Given the description of an element on the screen output the (x, y) to click on. 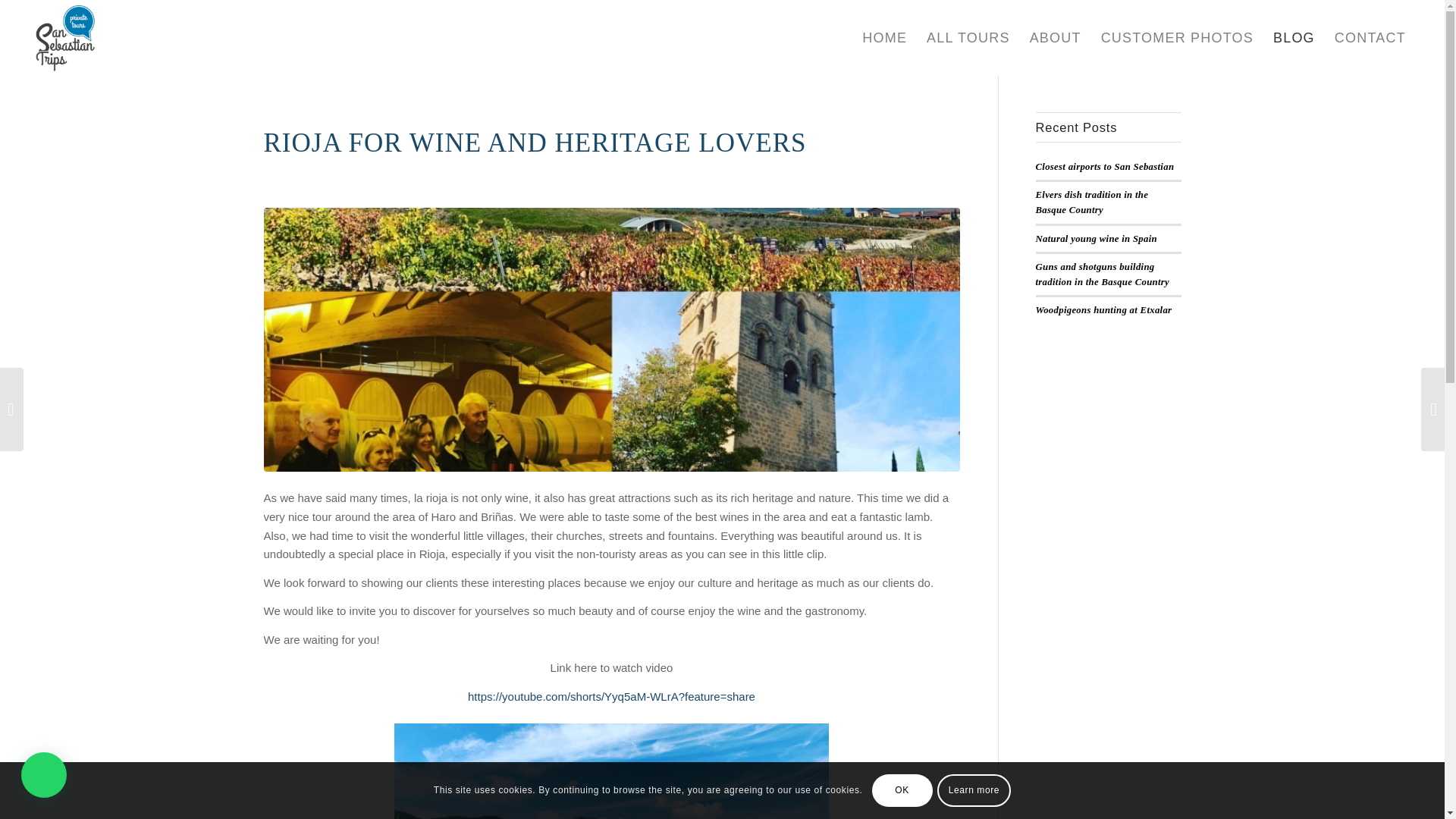
Elvers dish tradition in the Basque Country (1091, 202)
Permanent Link: Rioja for wine and heritage lovers (534, 142)
CONTACT (1369, 38)
Closest airports to San Sebastian (1104, 166)
Natural young wine in Spain (1096, 238)
ALL TOURS (968, 38)
RIOJA FOR WINE AND HERITAGE LOVERS (534, 142)
ABOUT (1055, 38)
CUSTOMER PHOTOS (1176, 38)
